Given the description of an element on the screen output the (x, y) to click on. 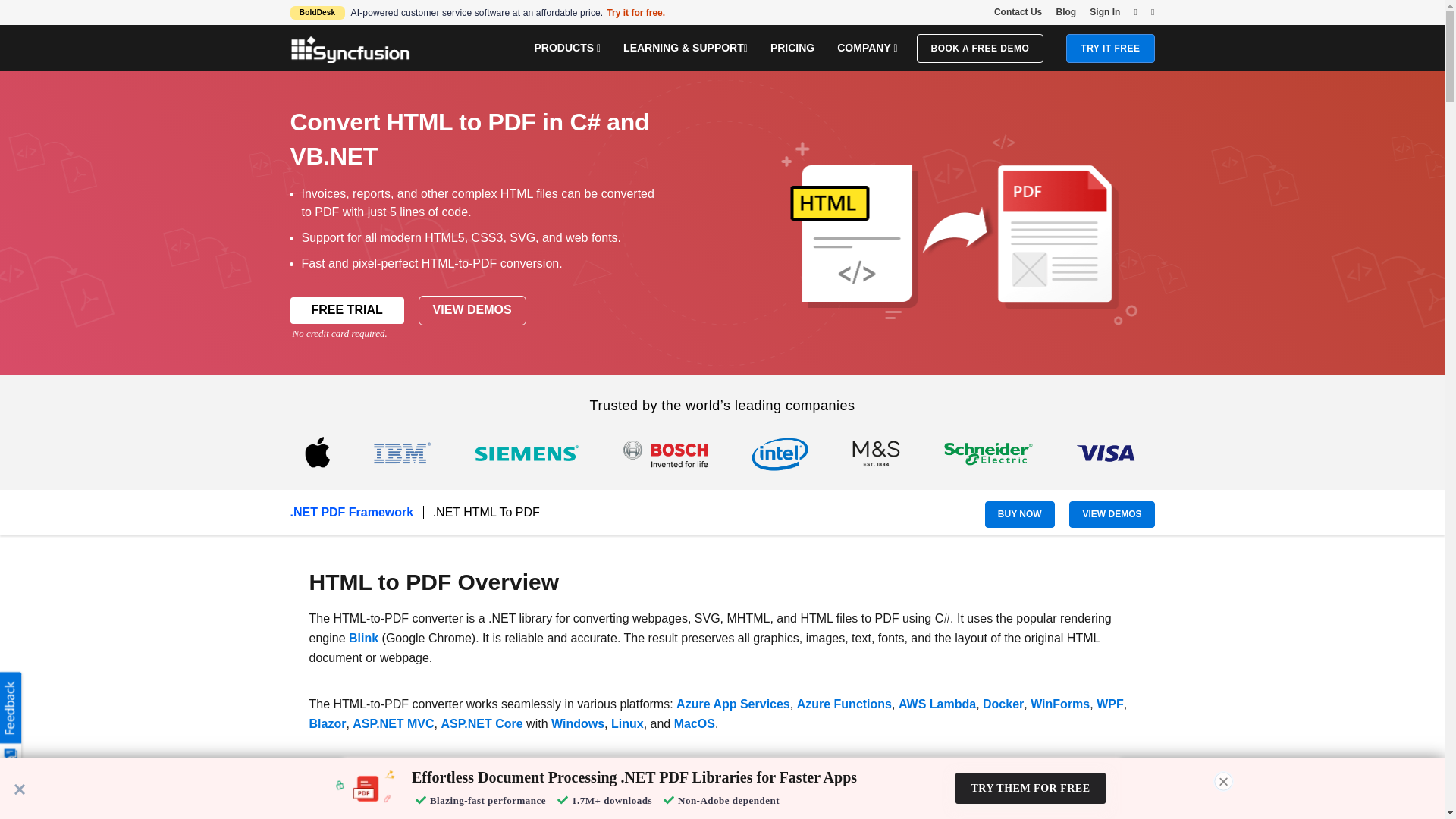
Try it for free. (636, 12)
OK (909, 791)
Blog (1065, 11)
Contact Us (1018, 11)
privacy policy (574, 791)
Sign In (1104, 11)
Close (19, 789)
cookie policy (386, 797)
Syncfusion (349, 49)
PRODUCTS (567, 47)
TRY THEM FOR FREE (1030, 788)
